Given the description of an element on the screen output the (x, y) to click on. 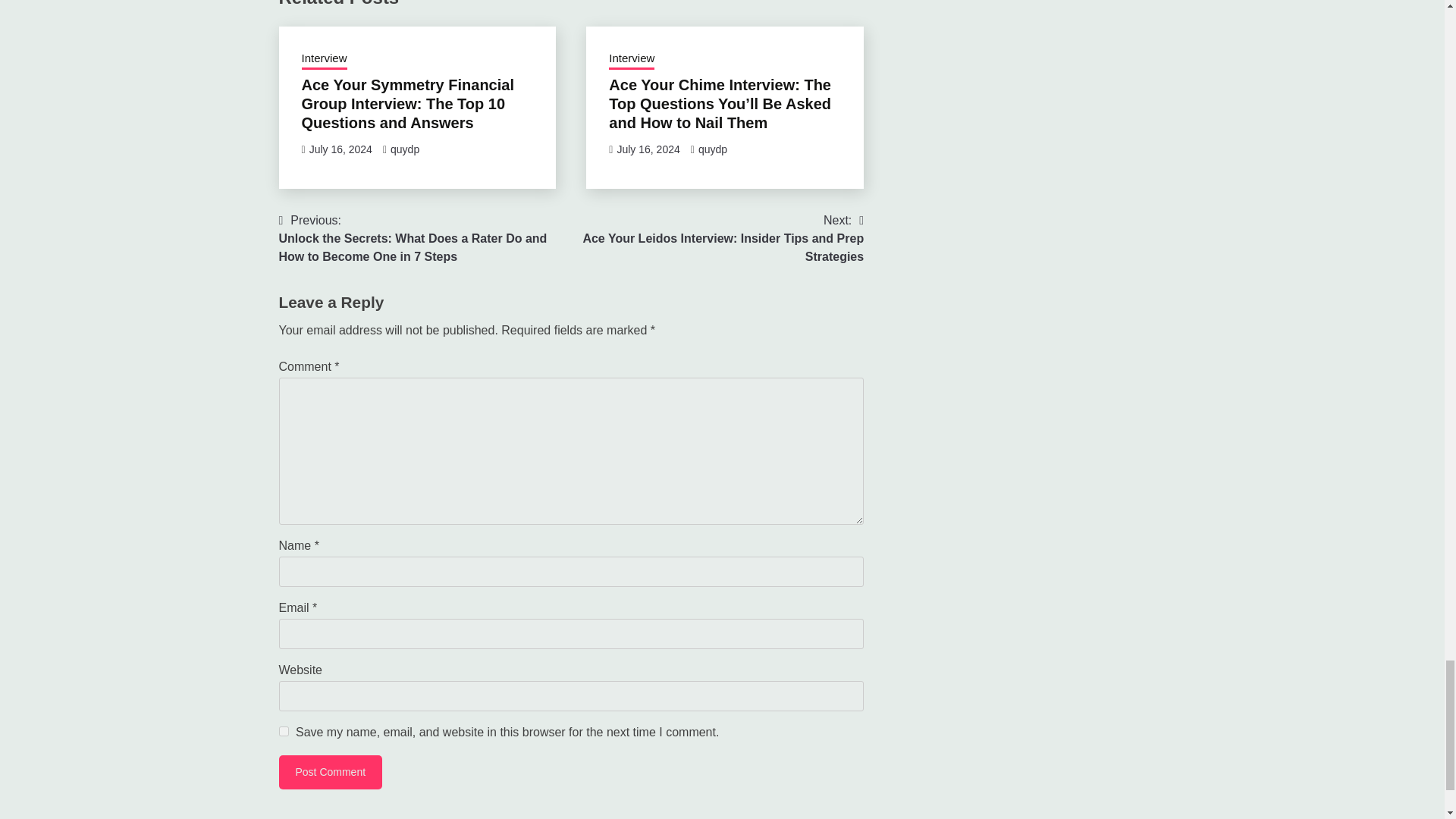
yes (283, 731)
Interview (324, 59)
Interview (630, 59)
quydp (404, 149)
July 16, 2024 (340, 149)
July 16, 2024 (647, 149)
Post Comment (330, 772)
Post Comment (330, 772)
